Given the description of an element on the screen output the (x, y) to click on. 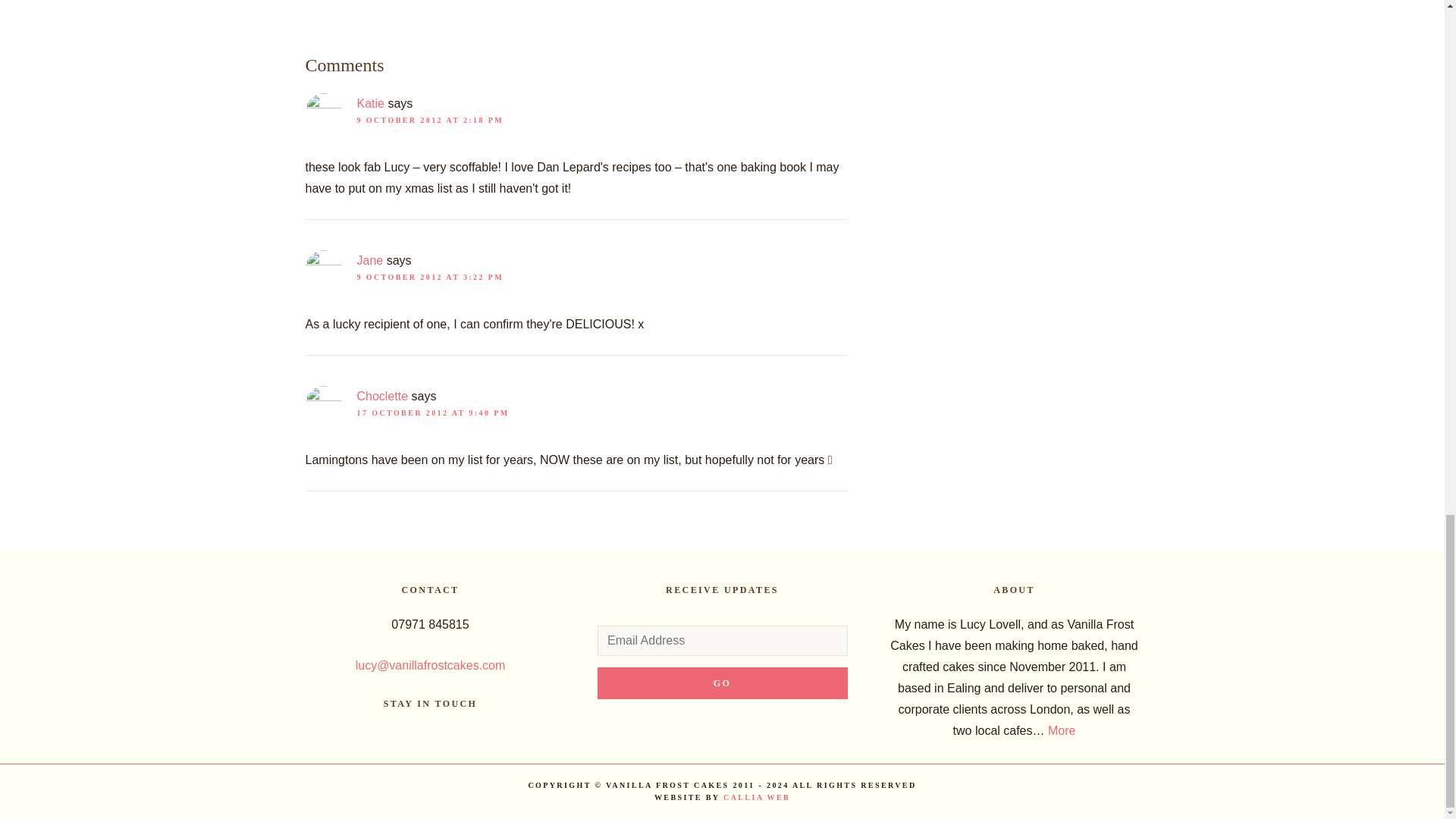
9 OCTOBER 2012 AT 3:22 PM (429, 276)
Katie (370, 103)
Jane (369, 259)
Go (721, 683)
17 OCTOBER 2012 AT 9:40 PM (432, 412)
Choclette (381, 395)
9 OCTOBER 2012 AT 2:18 PM (429, 120)
